Given the description of an element on the screen output the (x, y) to click on. 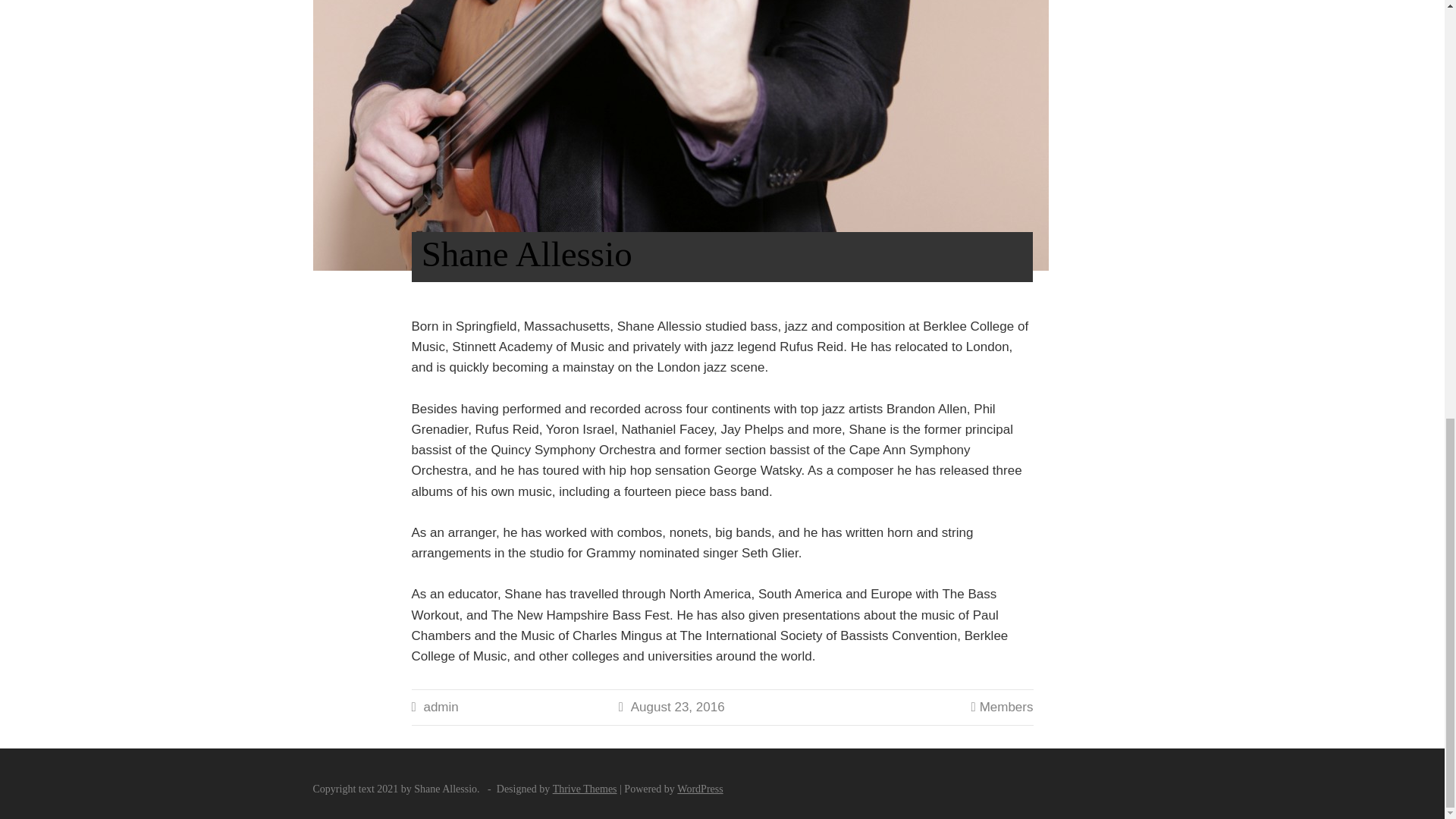
Thrive Themes (585, 788)
Members (1006, 707)
WordPress (699, 788)
admin (440, 707)
